Given the description of an element on the screen output the (x, y) to click on. 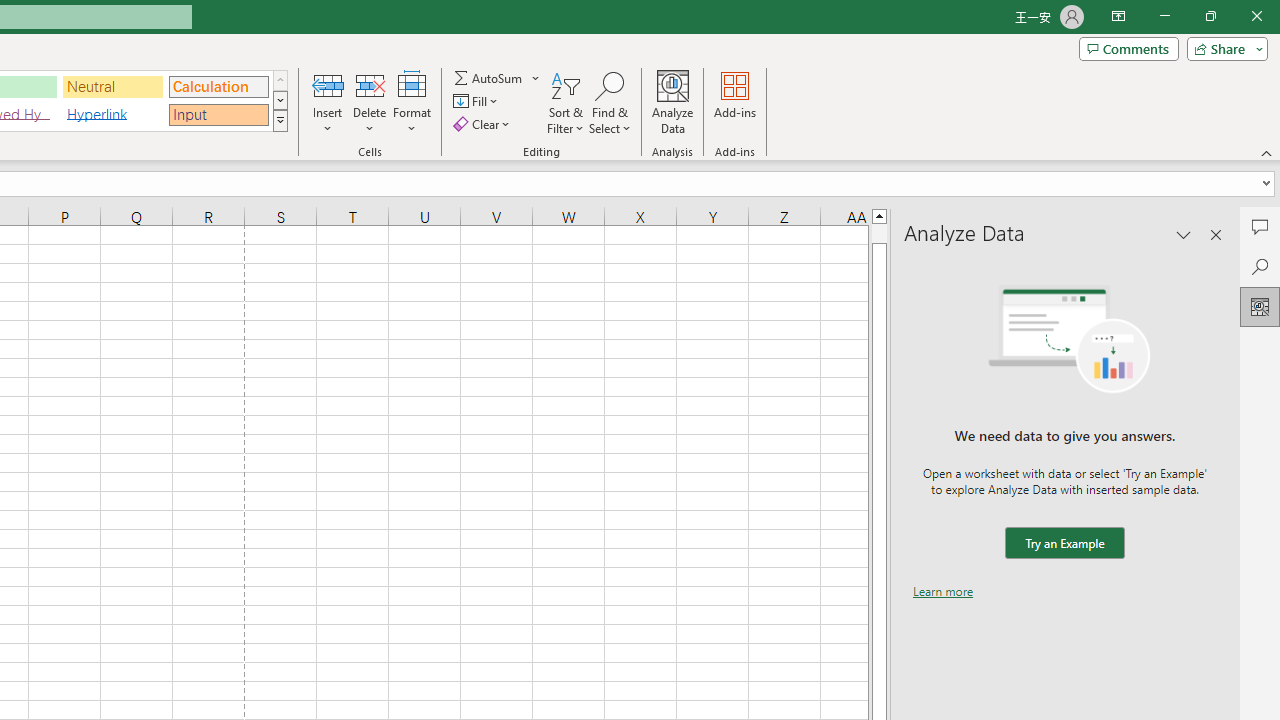
Sort & Filter (566, 102)
Format (411, 102)
Delete (369, 102)
Page up (879, 233)
Calculation (218, 86)
Learn more (943, 591)
Input (218, 114)
